Given the description of an element on the screen output the (x, y) to click on. 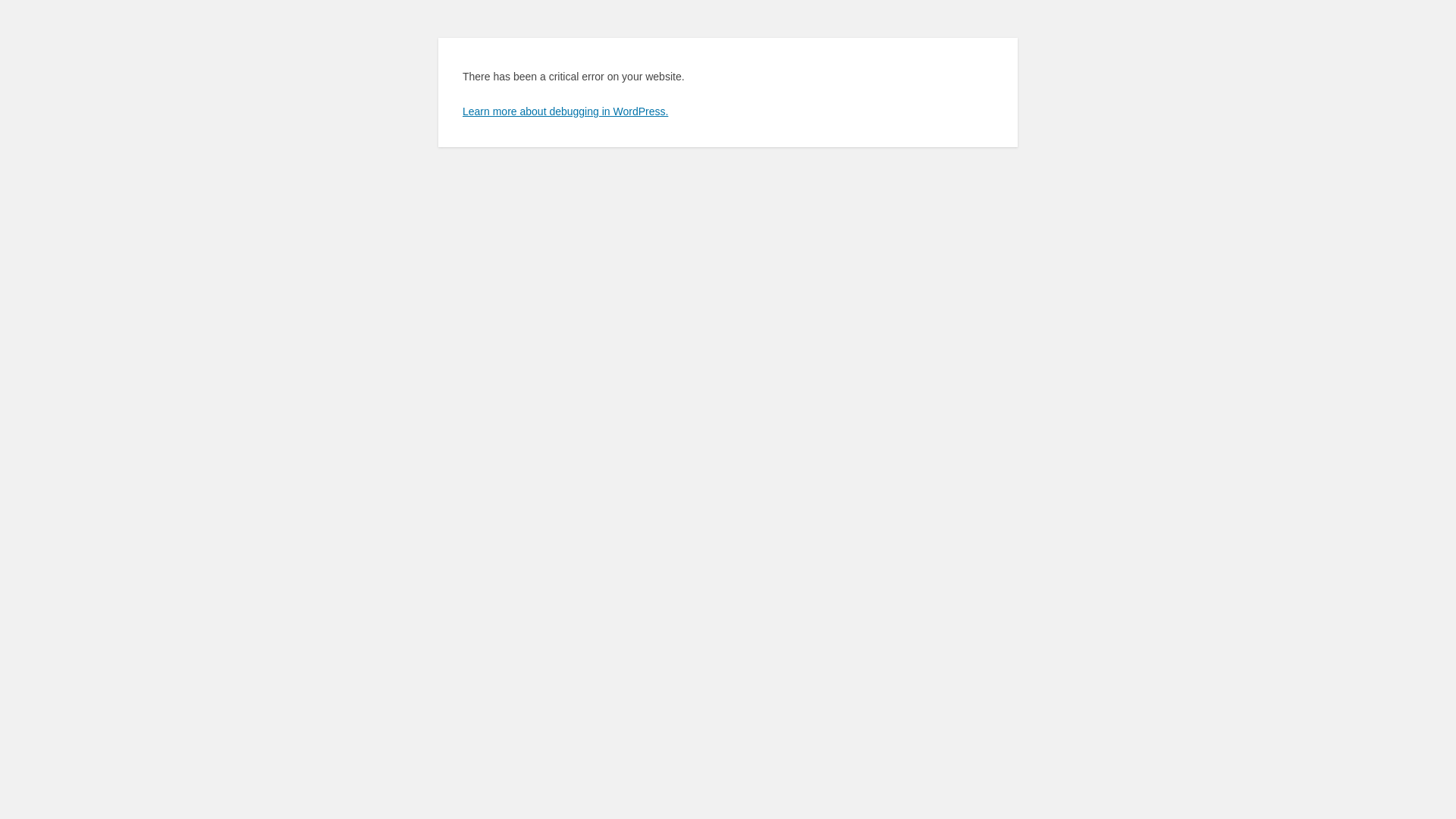
Learn more about debugging in WordPress. Element type: text (565, 111)
